Given the description of an element on the screen output the (x, y) to click on. 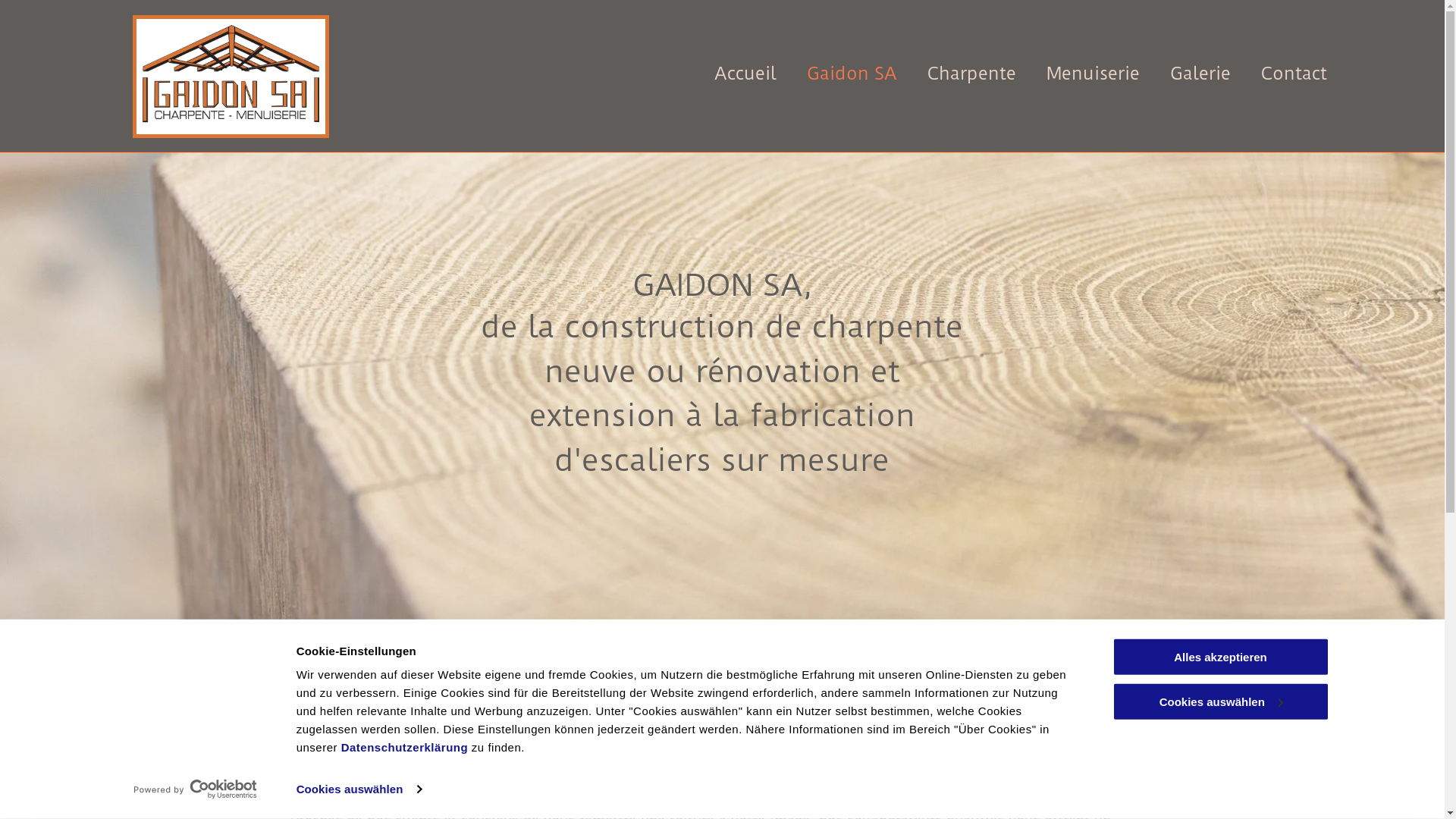
Contact Element type: text (1278, 73)
Galerie Element type: text (1184, 73)
Gaidon SA Element type: text (836, 73)
Charpente Element type: text (956, 73)
Accueil Element type: text (730, 73)
Menuiserie Element type: text (1077, 73)
Alles akzeptieren Element type: text (1219, 656)
